Given the description of an element on the screen output the (x, y) to click on. 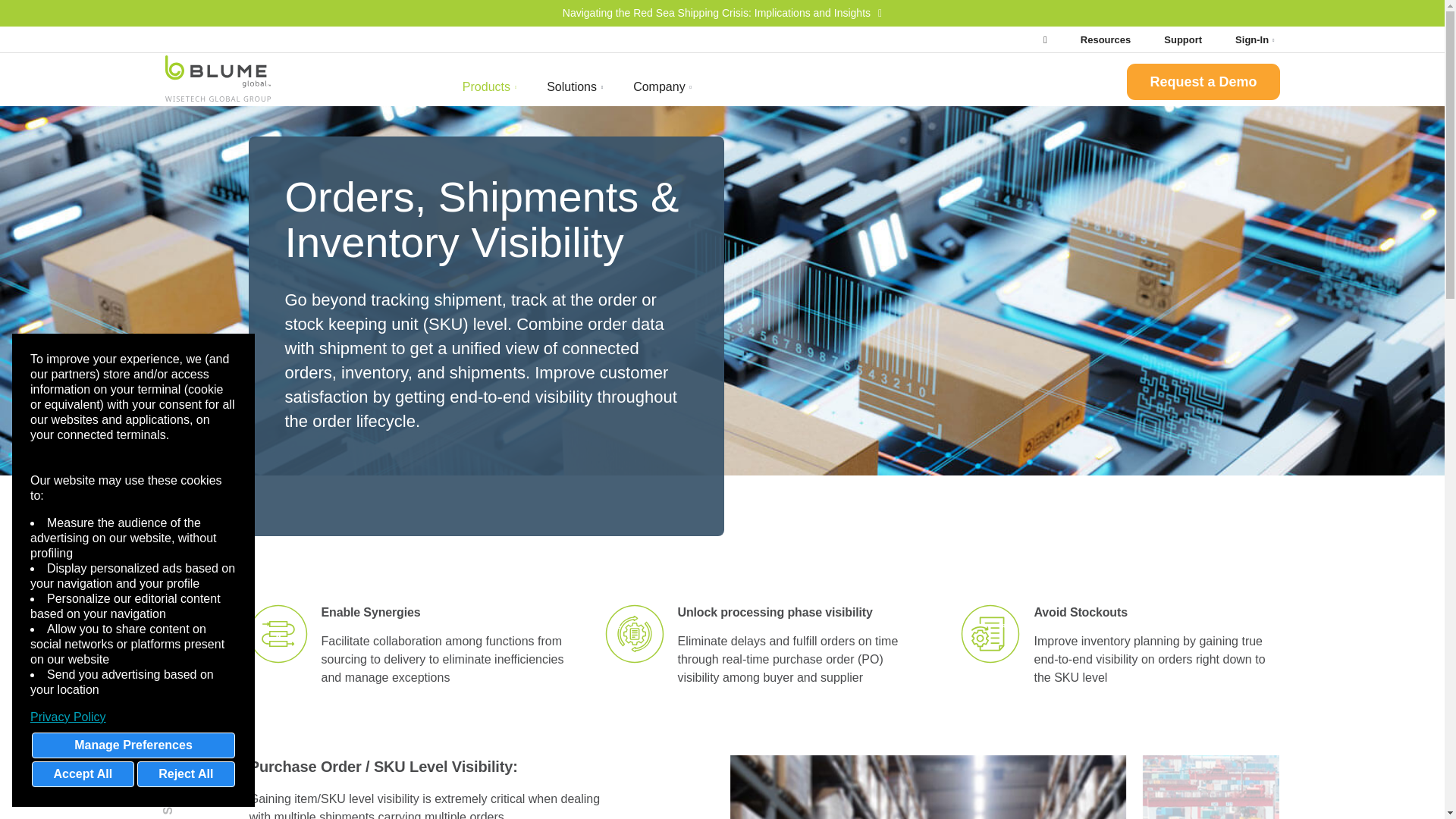
Reject All (185, 774)
Manage Preferences (133, 745)
Products (488, 87)
Blume Global (217, 81)
Privacy Policy (132, 717)
Solutions (574, 87)
Accept All (82, 774)
